Given the description of an element on the screen output the (x, y) to click on. 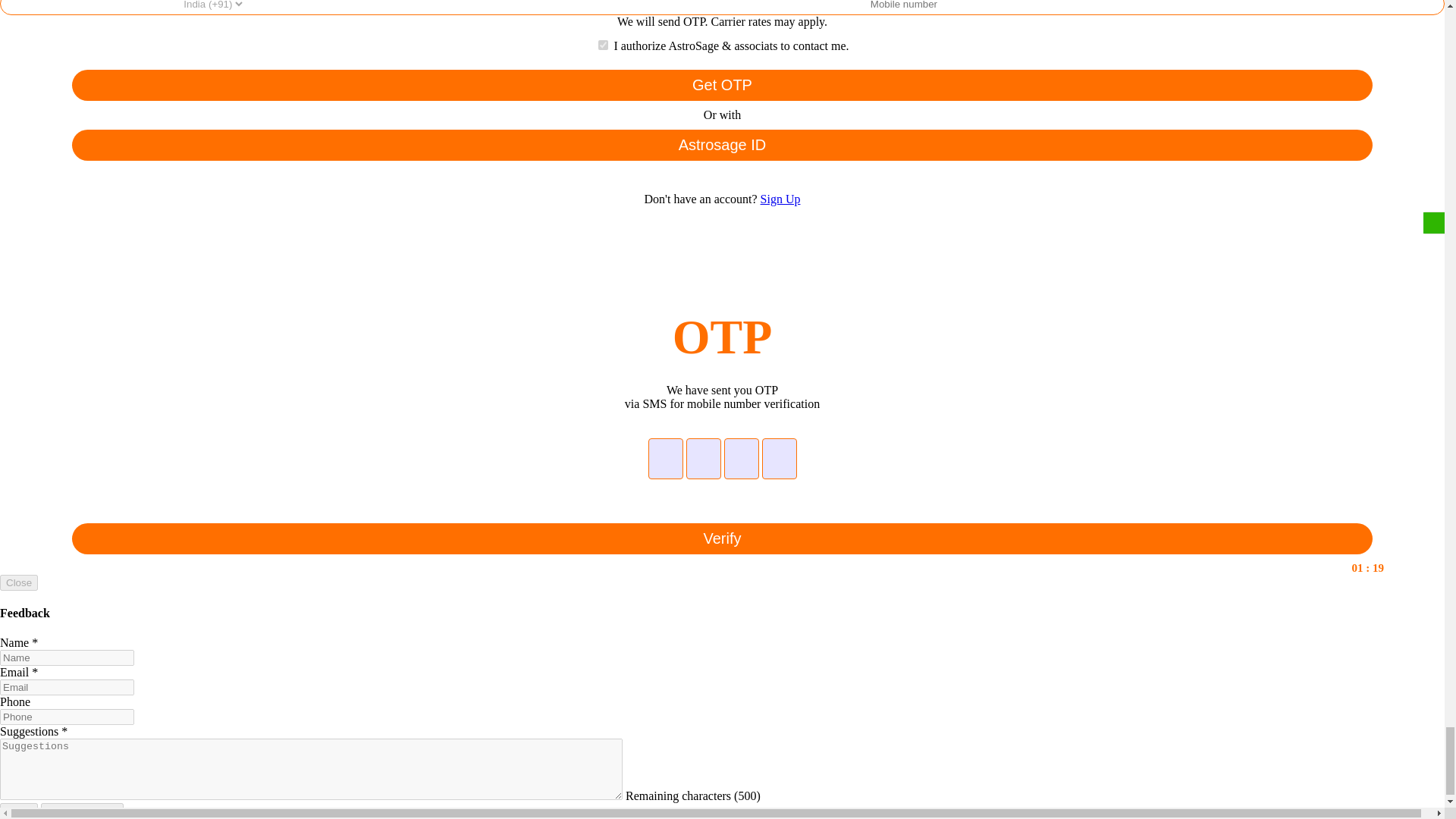
on (603, 44)
